Given the description of an element on the screen output the (x, y) to click on. 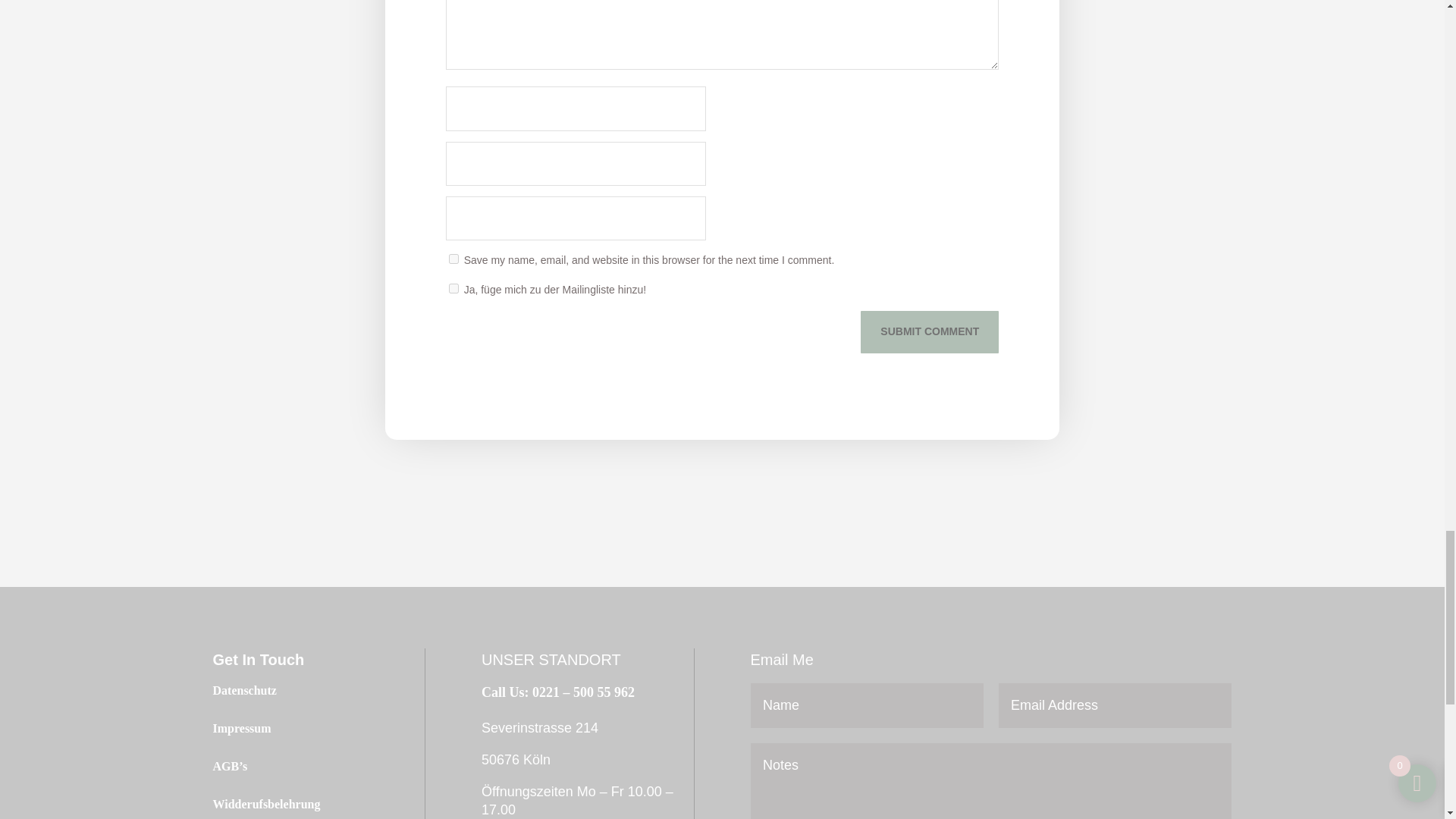
yes (453, 258)
Telefonnnummer HappyDog HappyWalk Store (557, 692)
1 (453, 288)
